Given the description of an element on the screen output the (x, y) to click on. 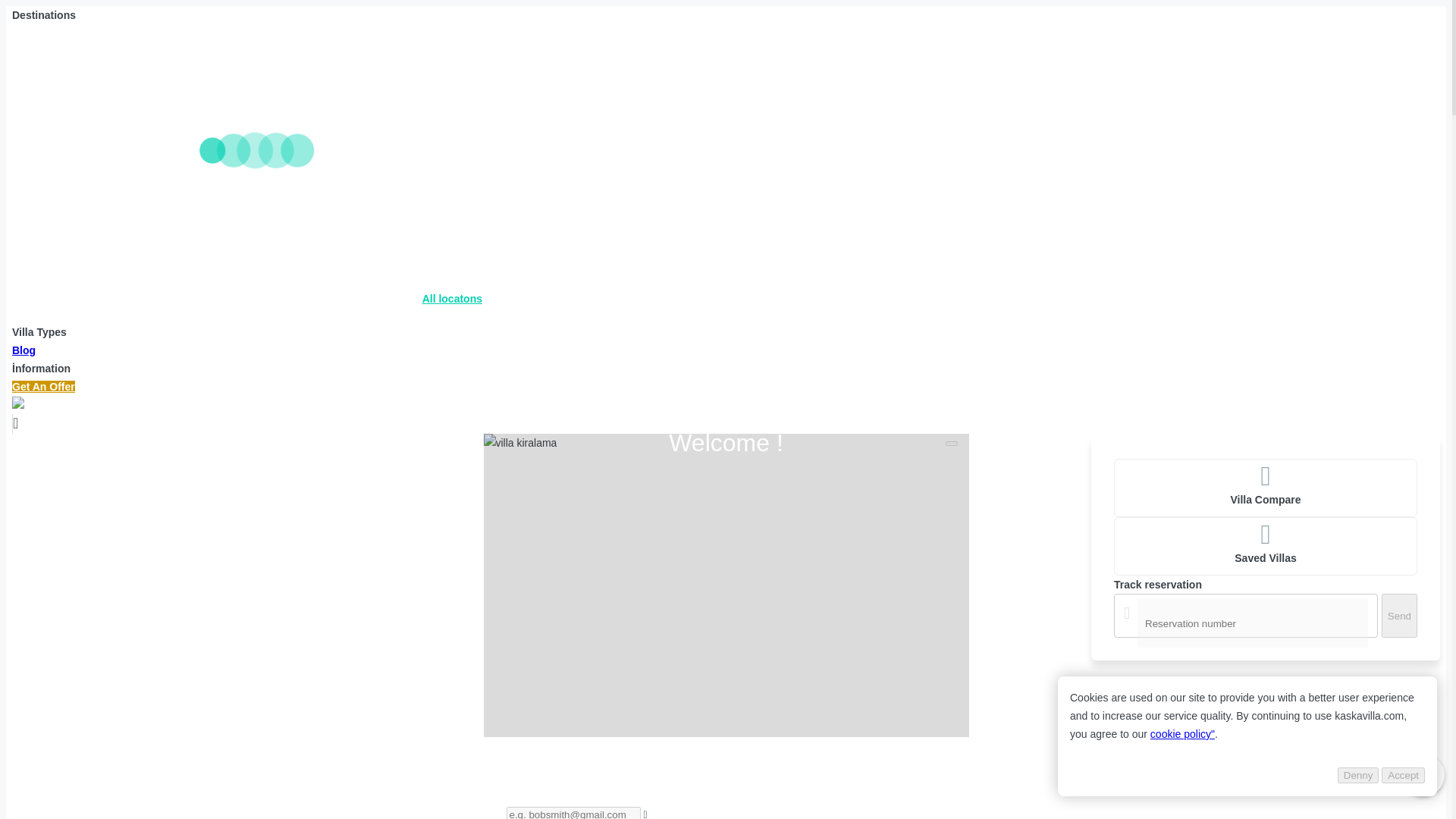
Destinations (43, 15)
Get An Offer (43, 386)
Blog (22, 349)
All locatons (451, 298)
Villa Types (38, 331)
